Given the description of an element on the screen output the (x, y) to click on. 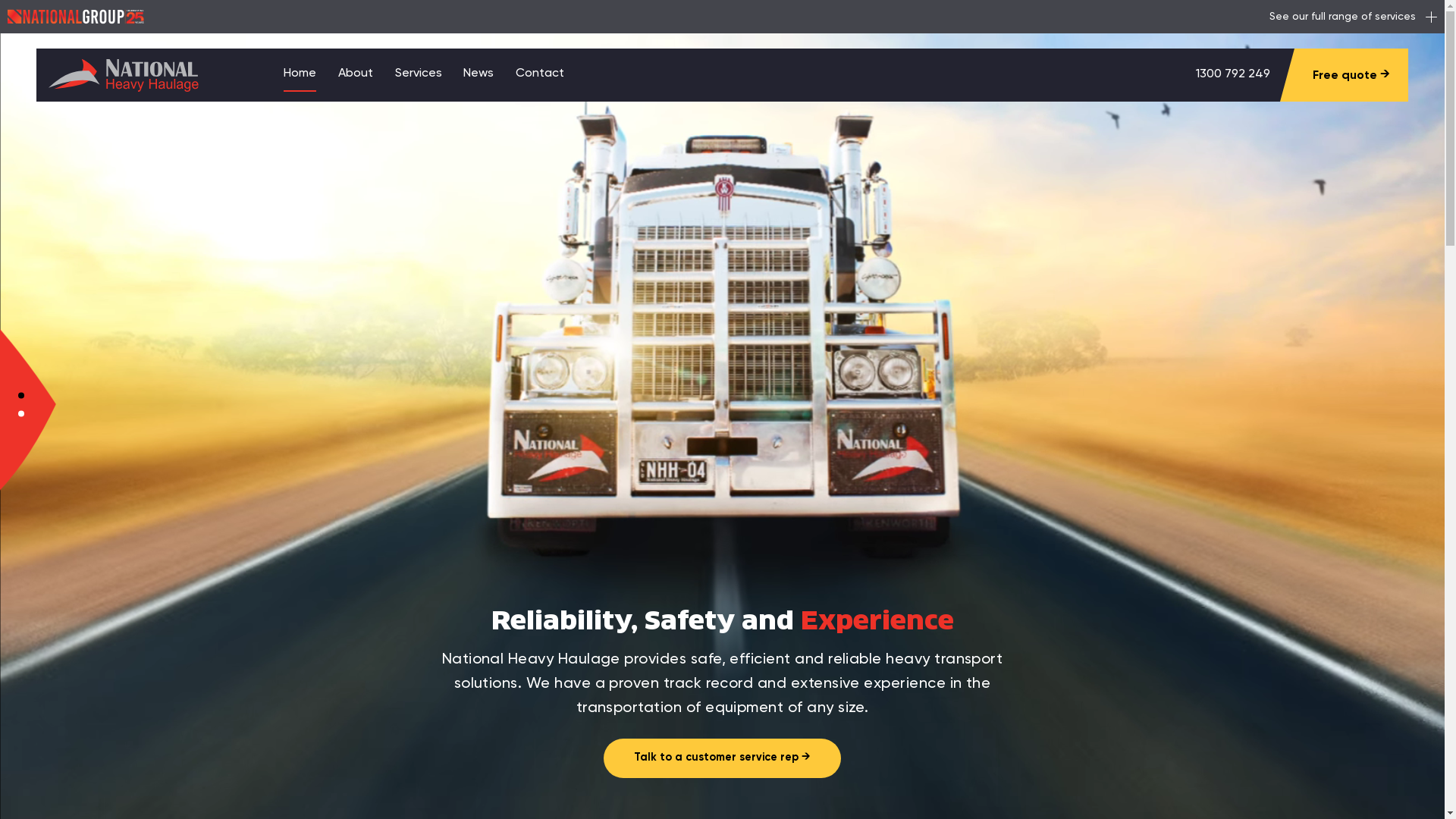
1300 792 249 Element type: text (1232, 74)
About Element type: text (355, 74)
Contact Element type: text (539, 74)
Services Element type: text (418, 74)
Home Element type: text (299, 74)
Talk to a customer service rep Element type: text (722, 768)
Free quote Element type: text (1351, 74)
News Element type: text (478, 74)
